Given the description of an element on the screen output the (x, y) to click on. 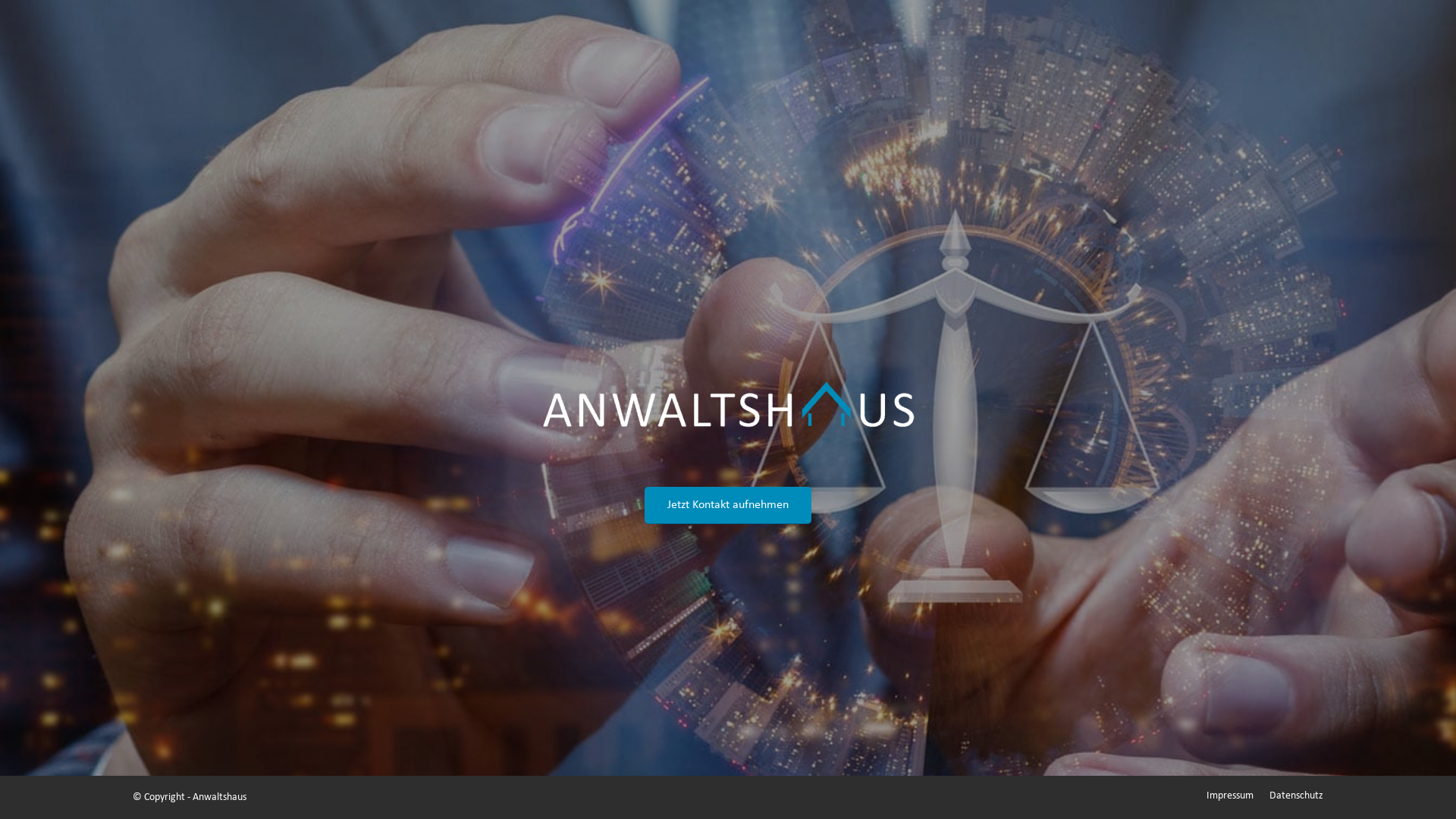
footer-logo Element type: hover (727, 395)
Datenschutz Element type: text (1296, 795)
Jetzt Kontakt aufnehmen Element type: text (727, 504)
Impressum Element type: text (1229, 795)
